Given the description of an element on the screen output the (x, y) to click on. 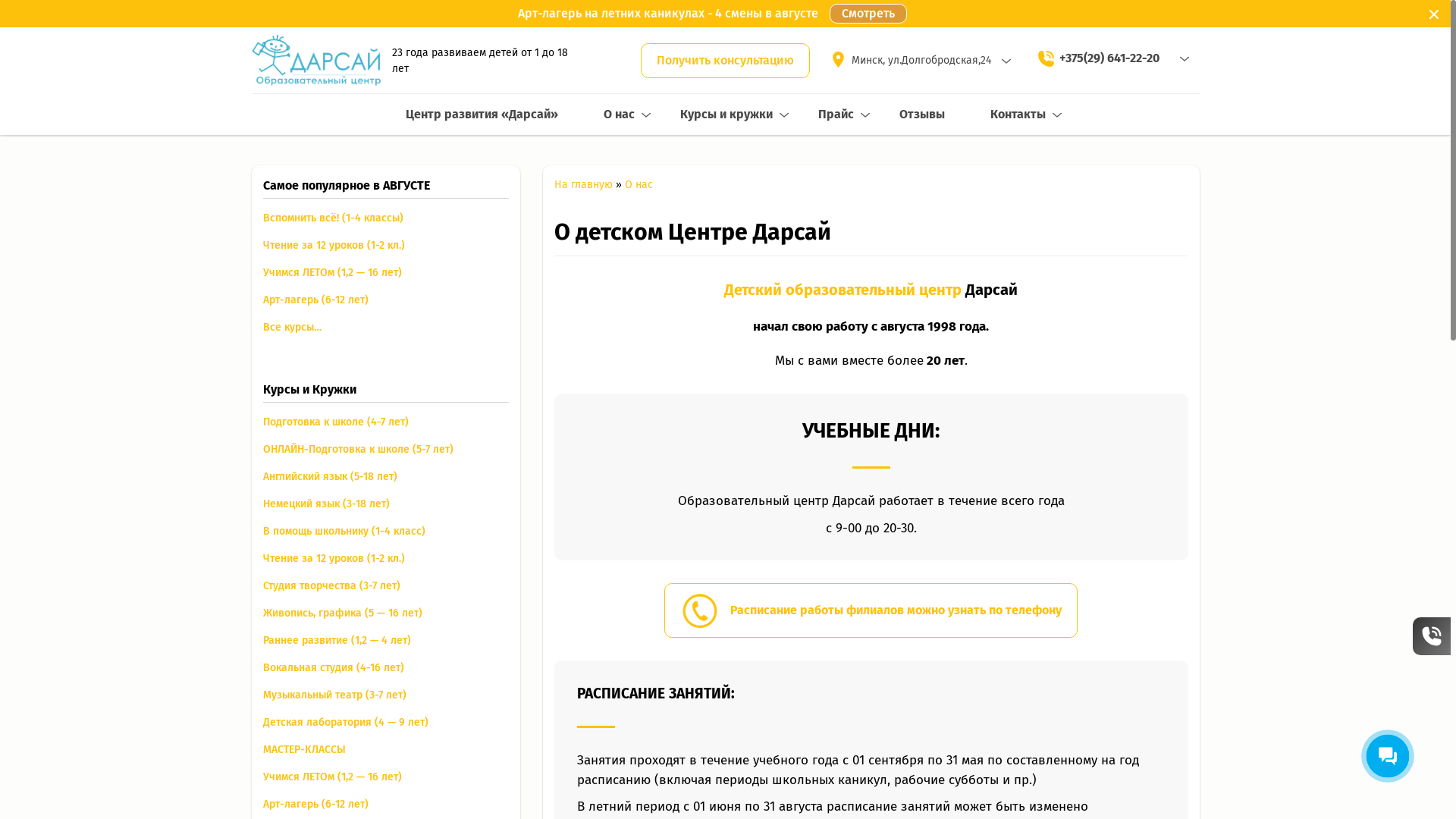
+375(29) 641-22-20 Element type: text (1109, 58)
darsay Element type: hover (315, 59)
